Given the description of an element on the screen output the (x, y) to click on. 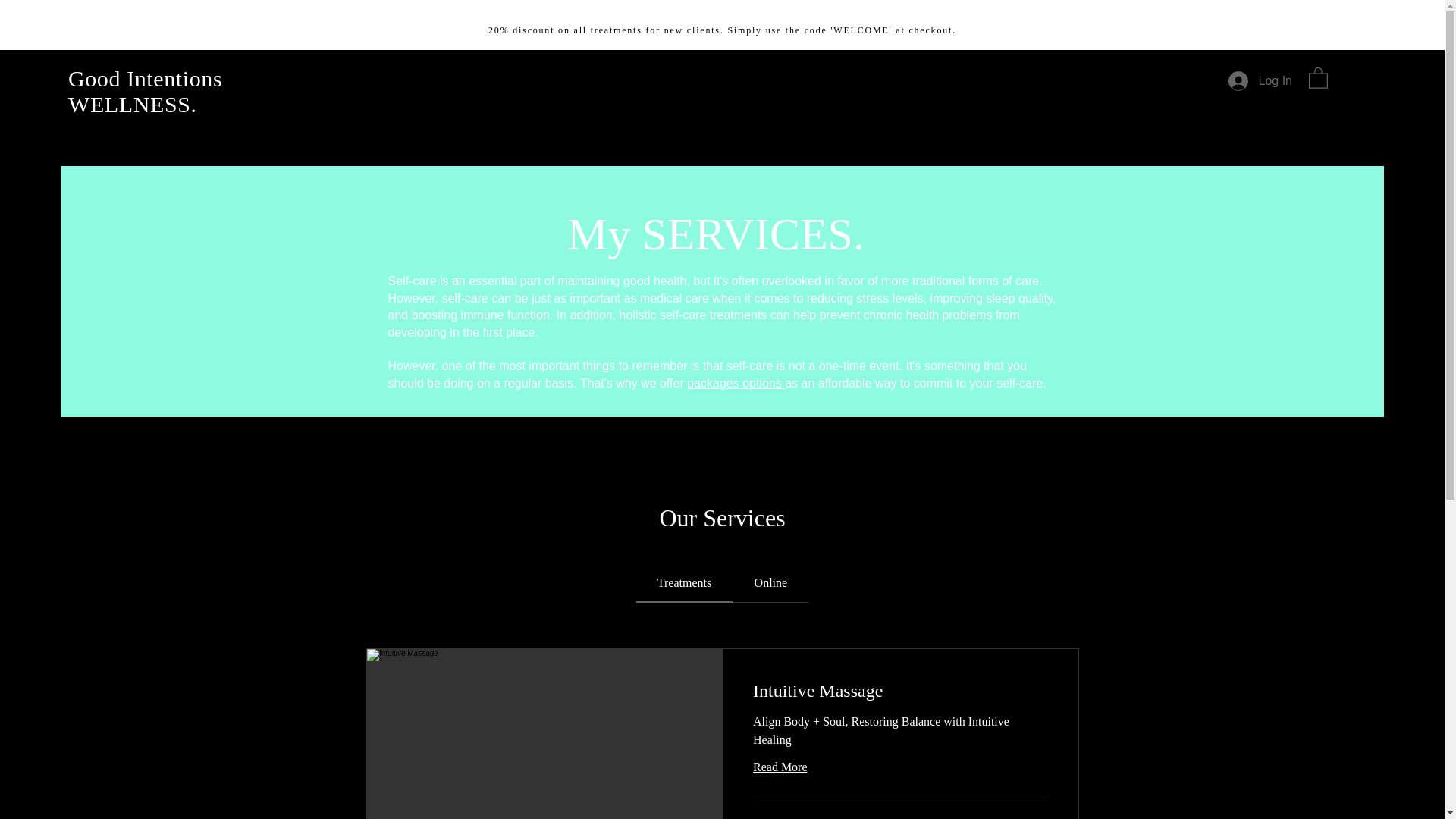
packages options  (735, 382)
Intuitive Massage (899, 691)
Log In (1260, 80)
Read More (899, 767)
Good Intentions WELLNESS. (145, 91)
